Given the description of an element on the screen output the (x, y) to click on. 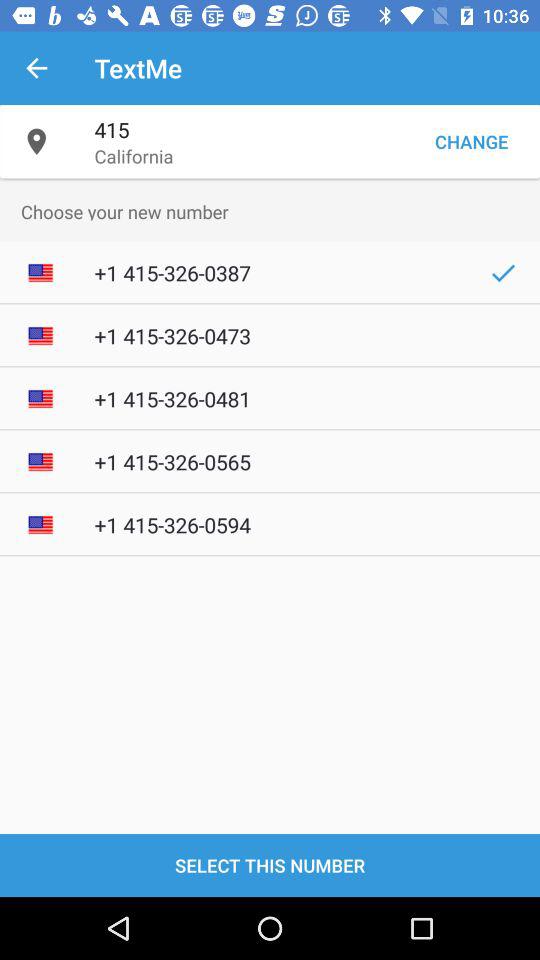
turn off icon to the right of california (471, 141)
